Given the description of an element on the screen output the (x, y) to click on. 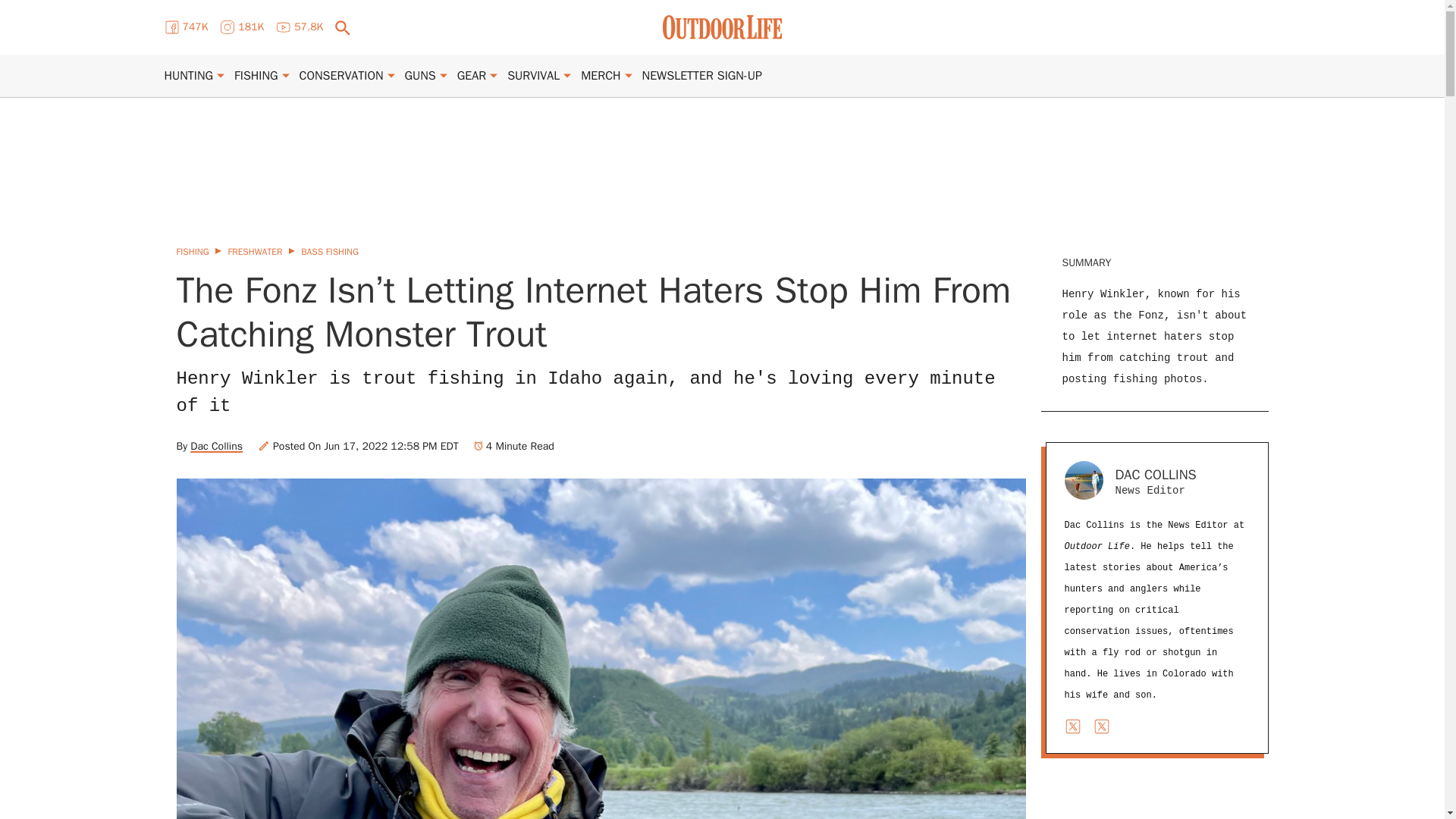
Newsletter Sign-up (701, 75)
Merch (600, 75)
Survival (532, 75)
Conservation (341, 75)
Guns (419, 75)
Fishing (256, 75)
Hunting (187, 75)
Gear (471, 75)
